Given the description of an element on the screen output the (x, y) to click on. 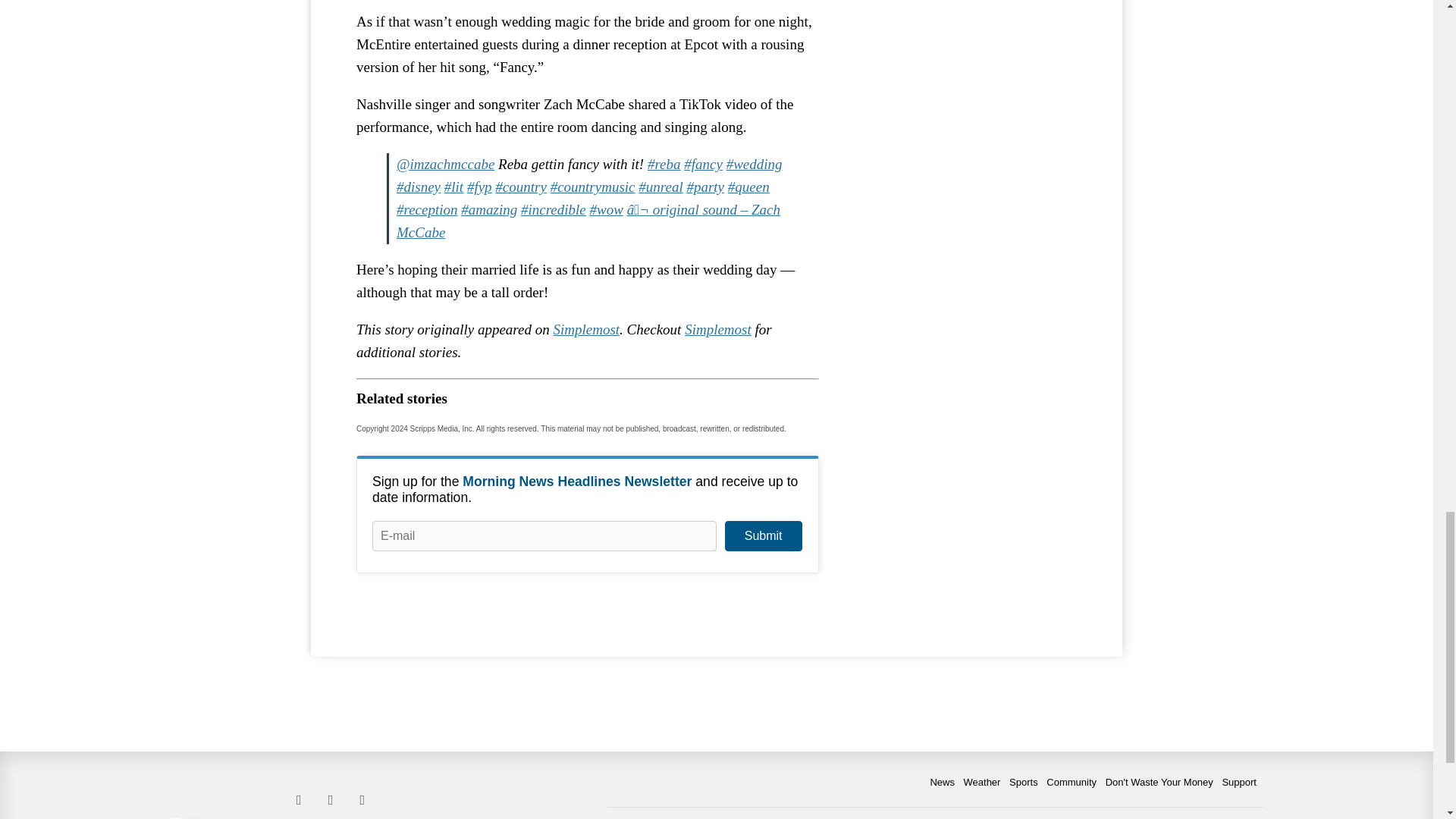
fyp (479, 186)
incredible (553, 209)
party (704, 186)
lit (453, 186)
unreal (660, 186)
queen (749, 186)
reba (664, 163)
countrymusic (592, 186)
disney (418, 186)
country (521, 186)
